Given the description of an element on the screen output the (x, y) to click on. 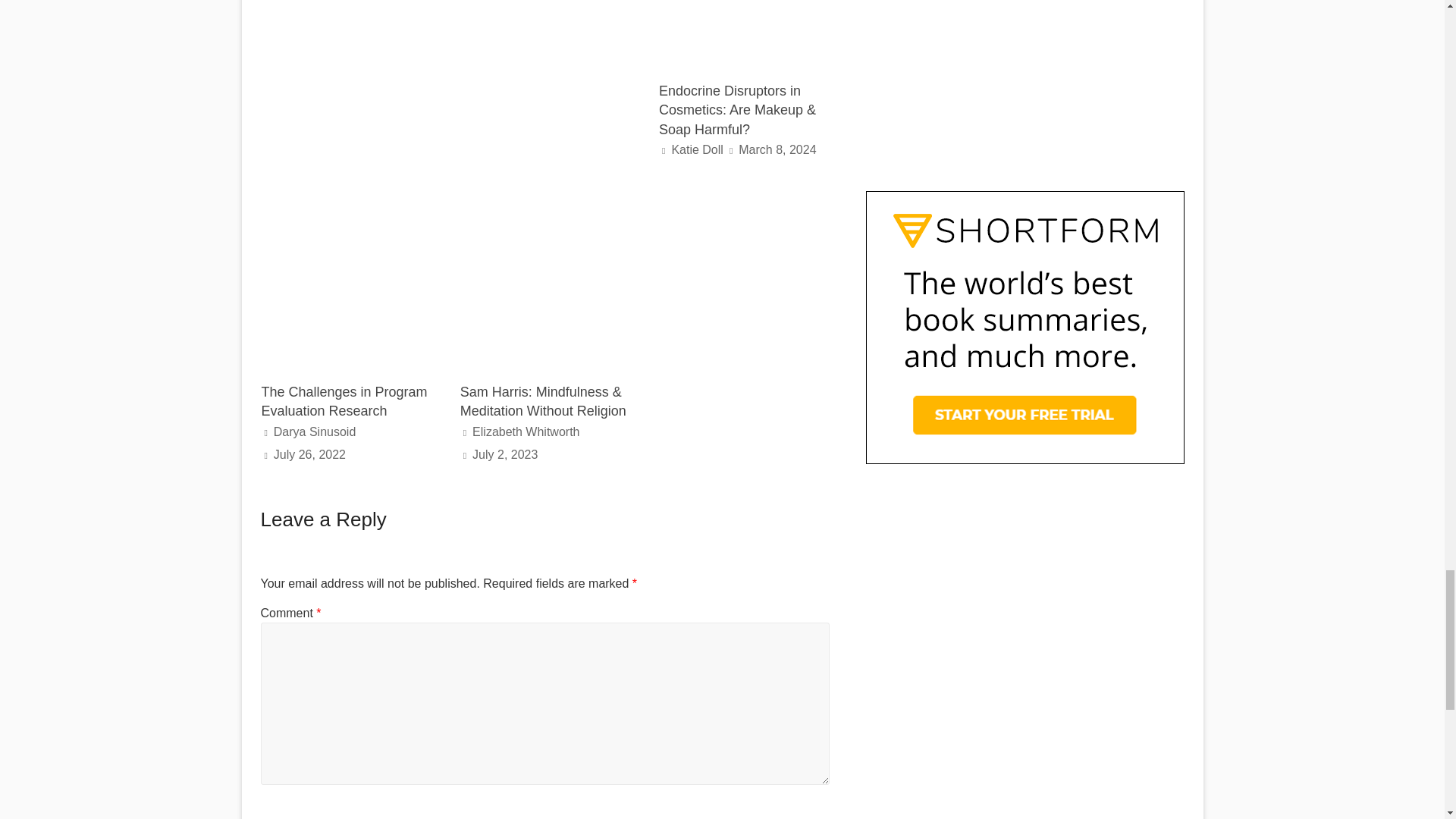
Katie Doll (696, 149)
March 8, 2024 (776, 149)
The Challenges in Program Evaluation Research (343, 401)
Darya Sinusoid (314, 431)
